Given the description of an element on the screen output the (x, y) to click on. 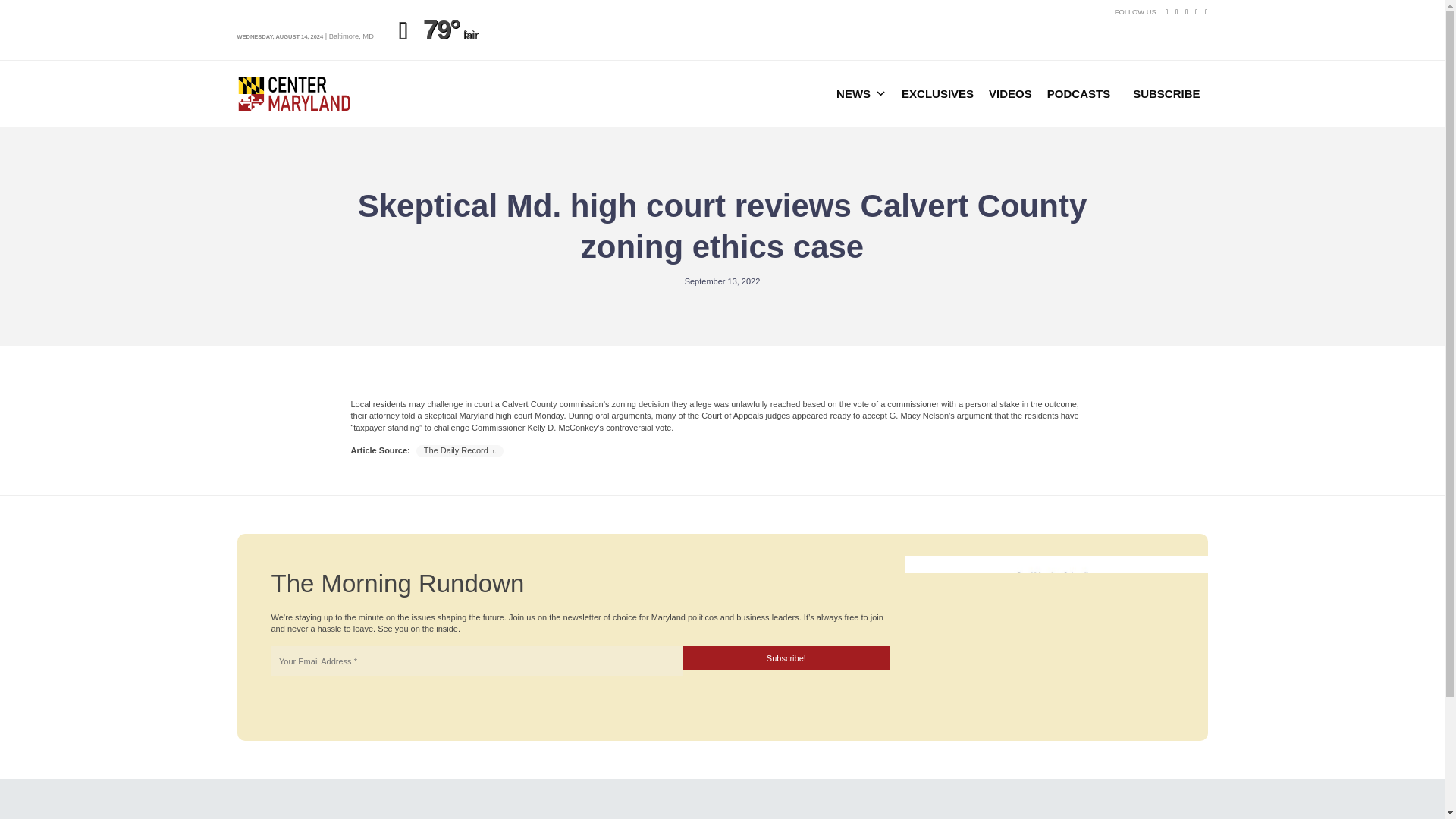
The Daily Record (459, 450)
SUBSCRIBE (1166, 93)
PODCASTS (1078, 93)
Your Email Address (476, 661)
NEWS (860, 93)
Subscribe! (785, 658)
Subscribe! (785, 658)
VIDEOS (1010, 93)
EXCLUSIVES (937, 93)
